Given the description of an element on the screen output the (x, y) to click on. 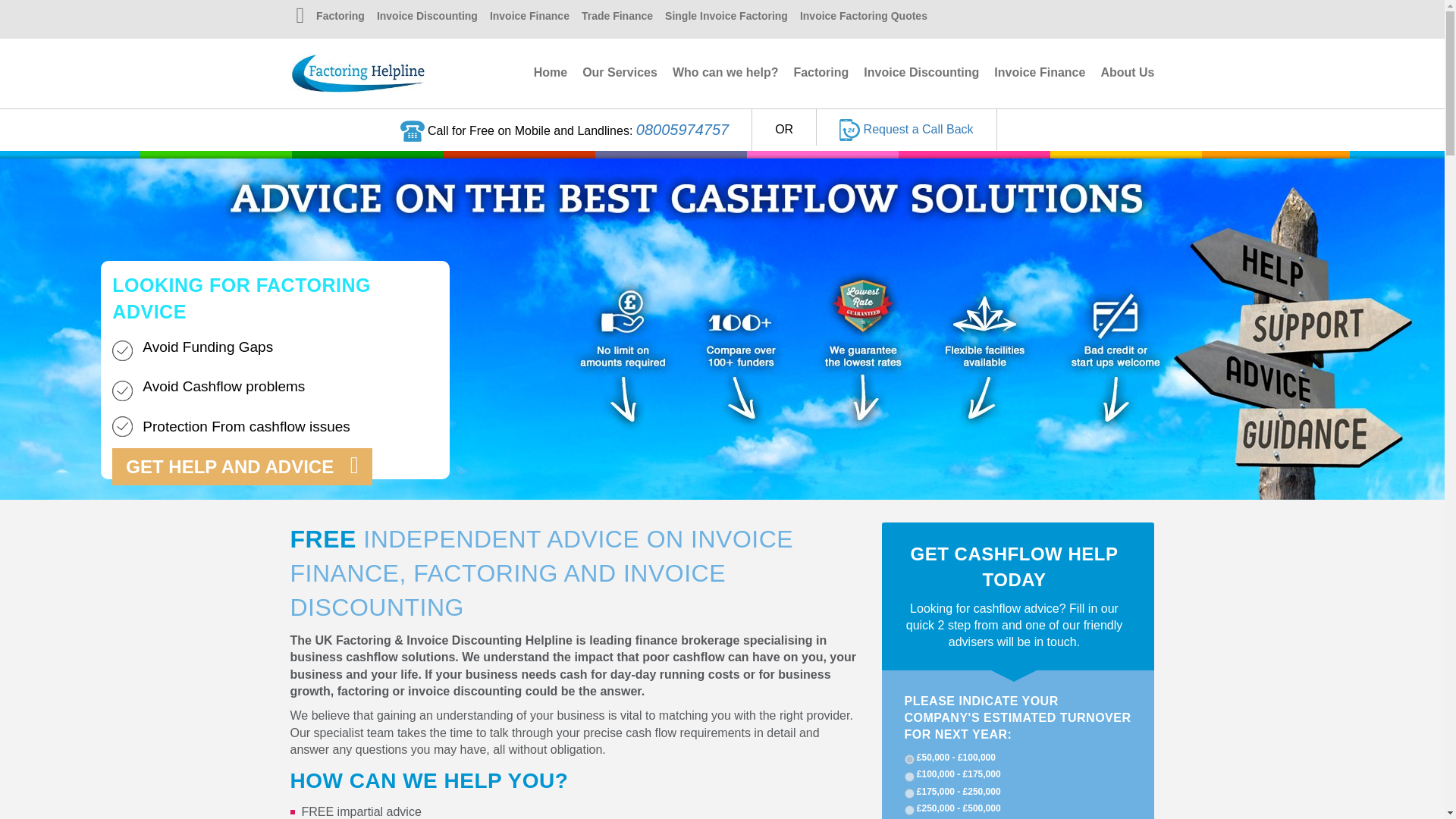
4 (909, 809)
Single Invoice Factoring (726, 16)
1 (909, 759)
Home (550, 72)
Factoring (340, 16)
Our Services (620, 72)
Factoring (820, 72)
2 (909, 777)
Invoice Finance (529, 16)
3 (909, 793)
Invoice Discounting (427, 16)
Invoice Finance (1039, 72)
Invoice Discounting (920, 72)
Who can we help? (725, 72)
Trade Finance (616, 16)
